Given the description of an element on the screen output the (x, y) to click on. 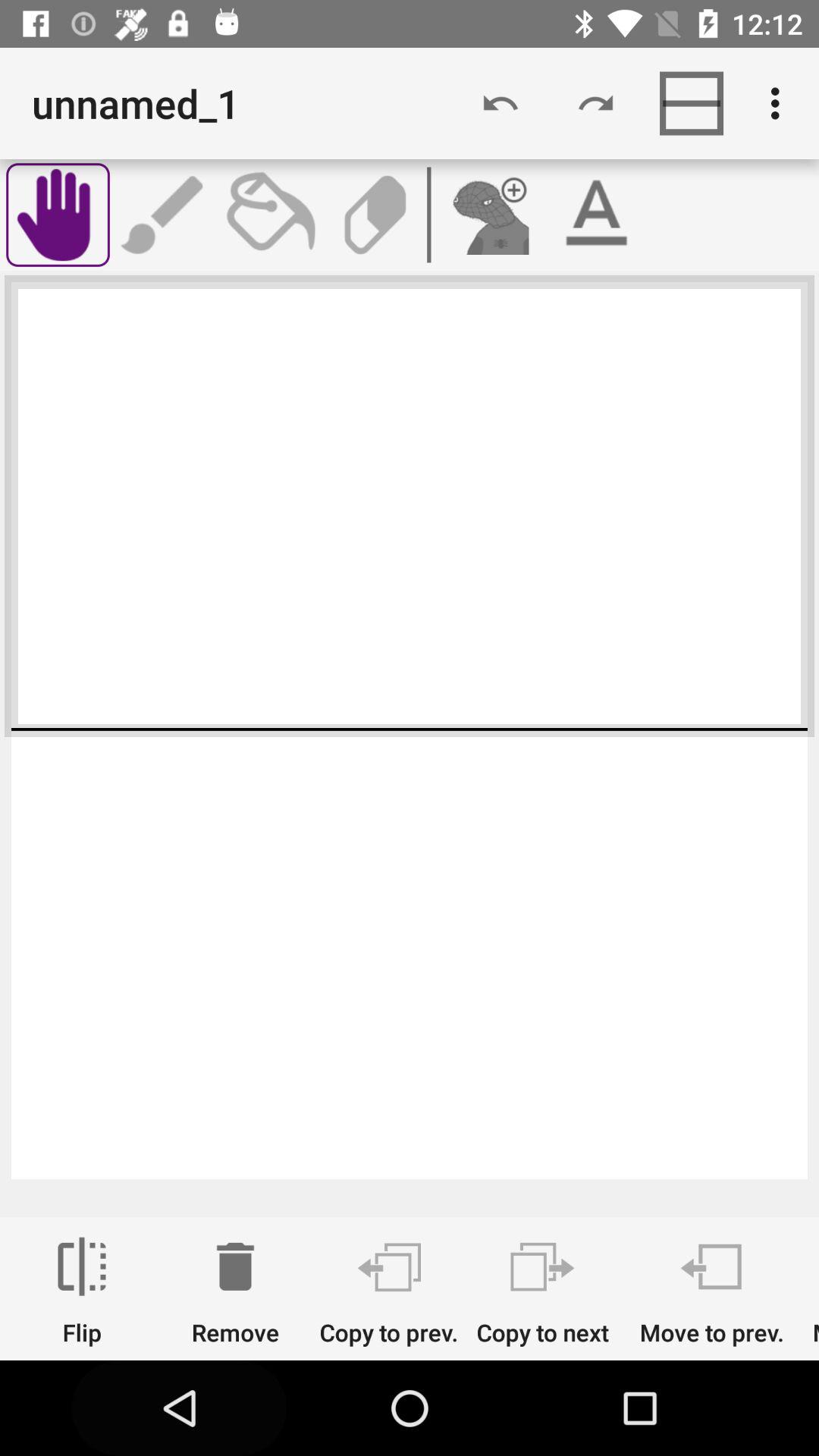
press the item next to flip item (235, 1291)
